Given the description of an element on the screen output the (x, y) to click on. 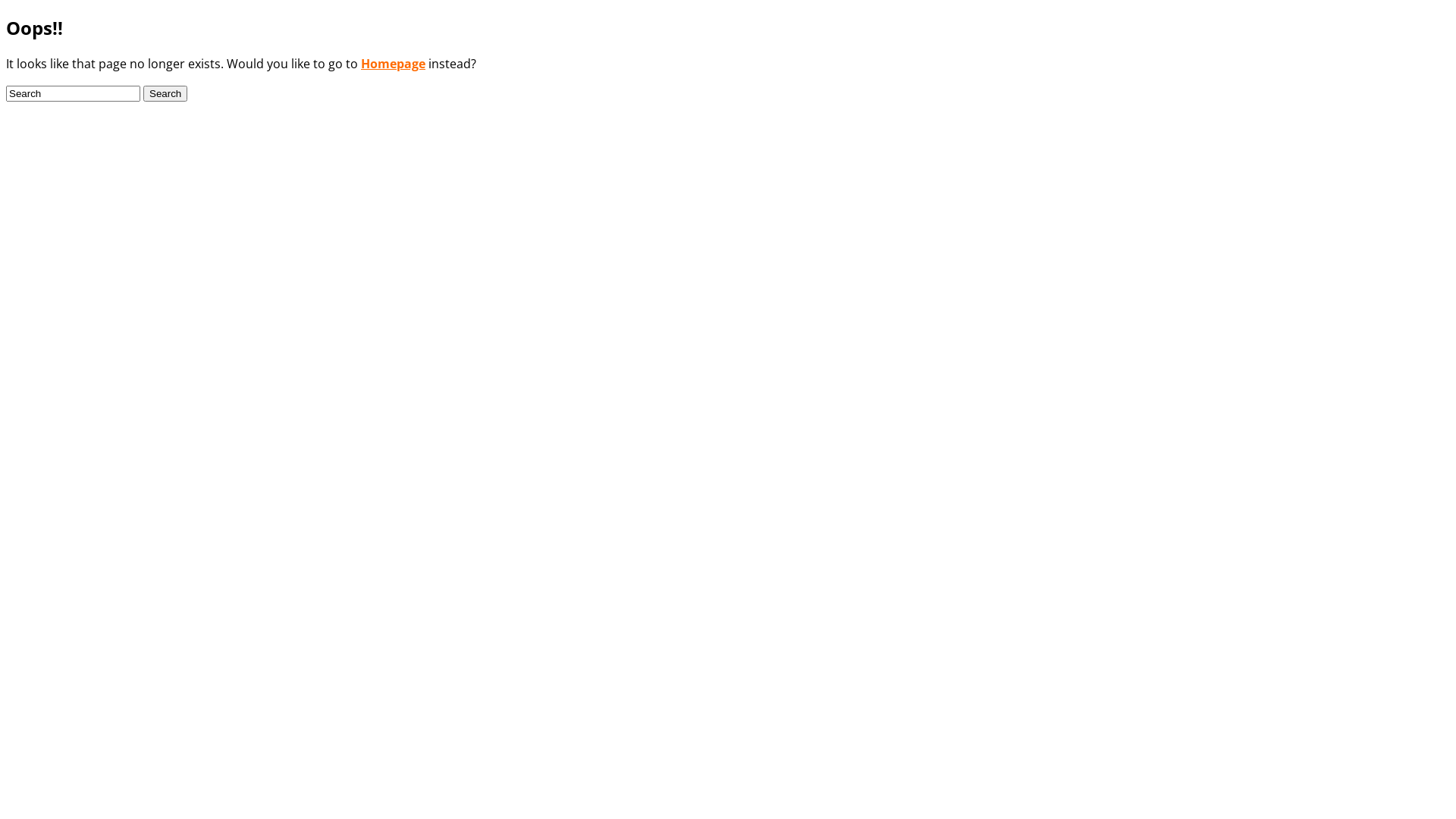
Search Element type: text (165, 93)
Homepage Element type: text (392, 63)
